Given the description of an element on the screen output the (x, y) to click on. 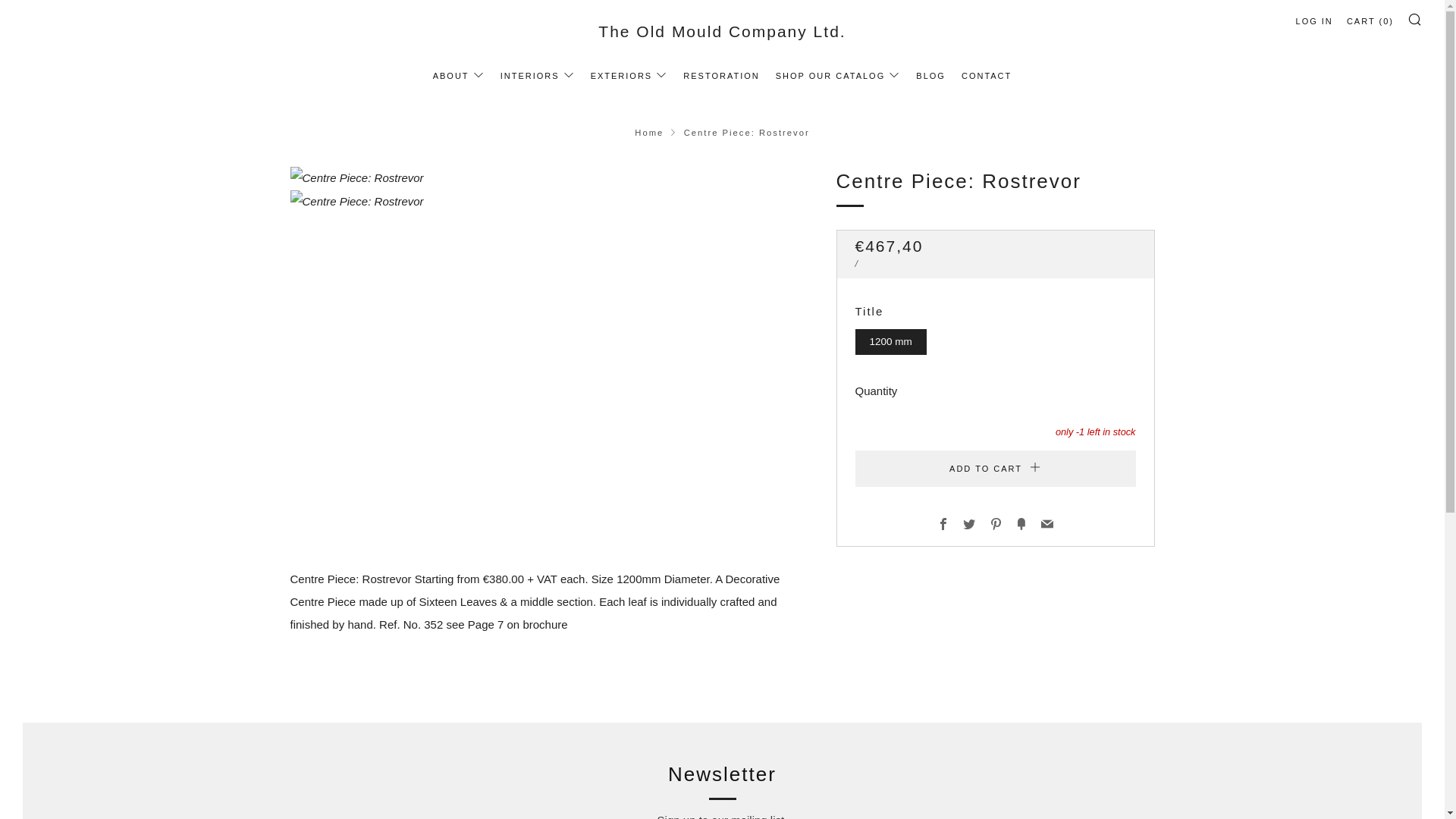
Home (648, 132)
